Given the description of an element on the screen output the (x, y) to click on. 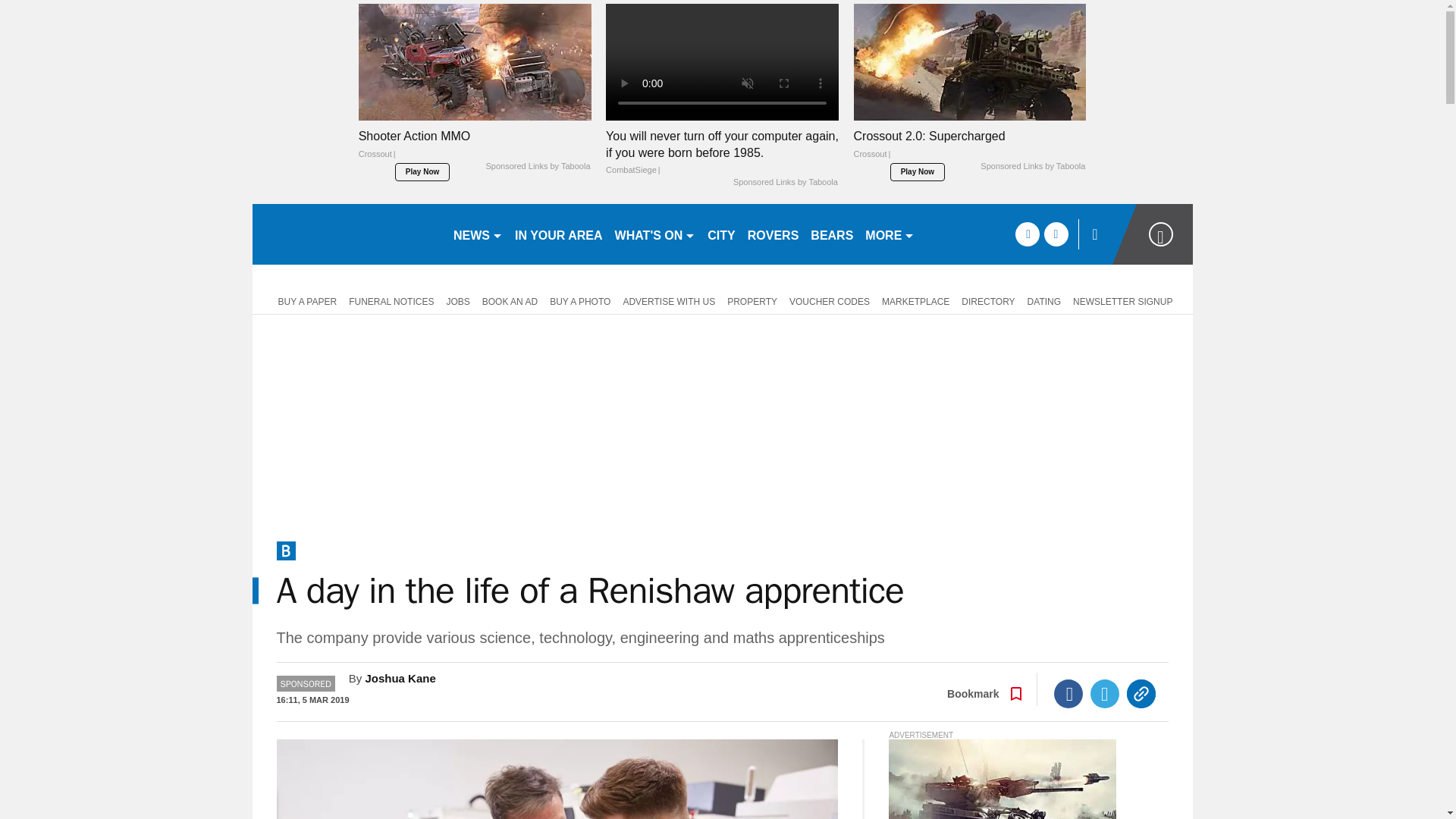
bristolpost (345, 233)
WHAT'S ON (654, 233)
Sponsored Links by Taboola (1031, 166)
Crossout 2.0: Supercharged (969, 148)
Twitter (1104, 693)
Facebook (1068, 693)
Shooter Action MMO (474, 148)
Shooter Action MMO (474, 61)
IN YOUR AREA (558, 233)
twitter (1055, 233)
Play Now (916, 171)
Sponsored Links by Taboola (785, 182)
facebook (1026, 233)
NEWS (477, 233)
